Given the description of an element on the screen output the (x, y) to click on. 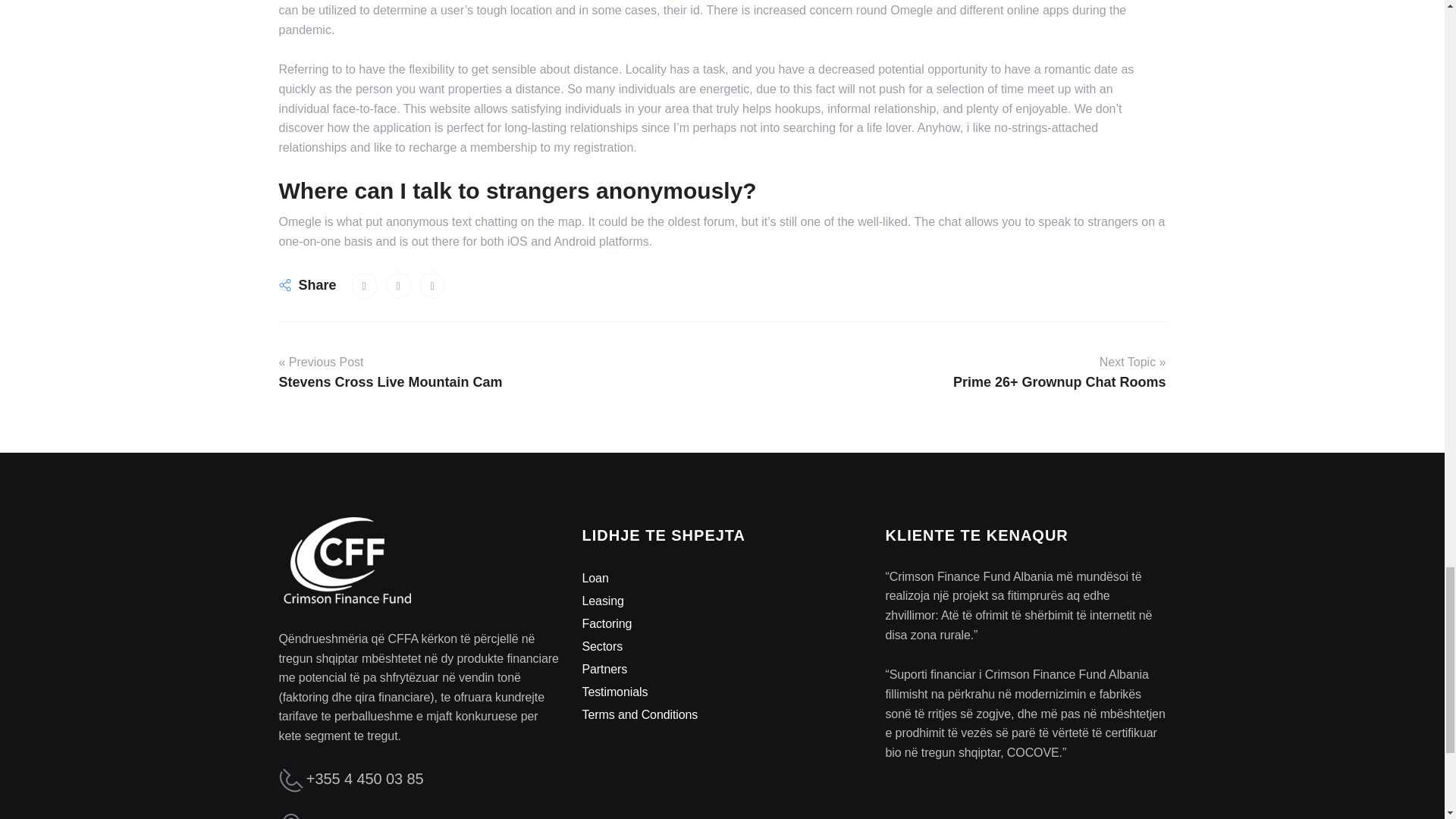
Partners (603, 668)
Omegle Review August 2022 (363, 284)
Loan (594, 577)
Leasing (601, 600)
Sectors (601, 645)
Factoring (605, 623)
